Given the description of an element on the screen output the (x, y) to click on. 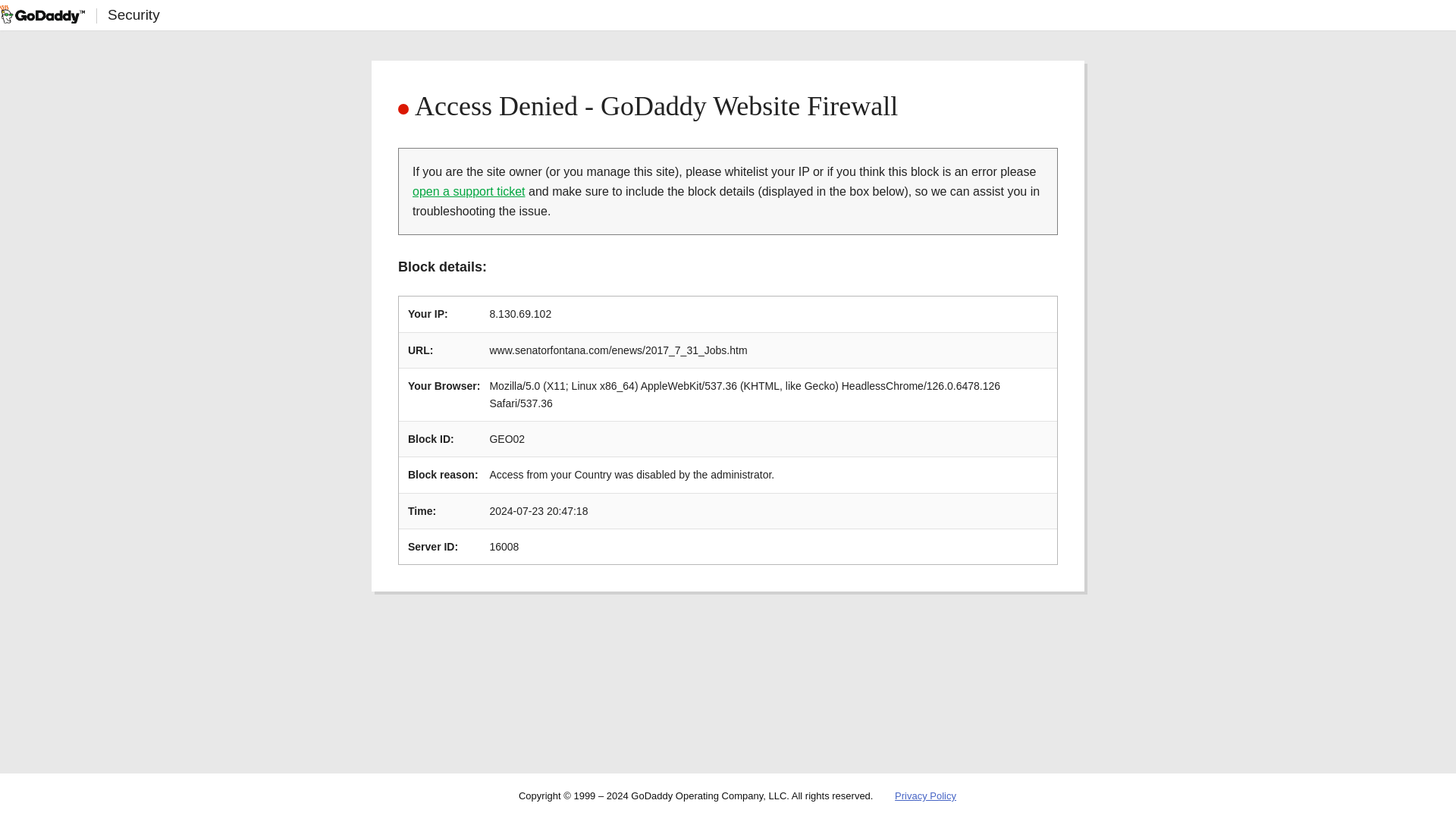
Privacy Policy (925, 795)
open a support ticket (468, 191)
